Given the description of an element on the screen output the (x, y) to click on. 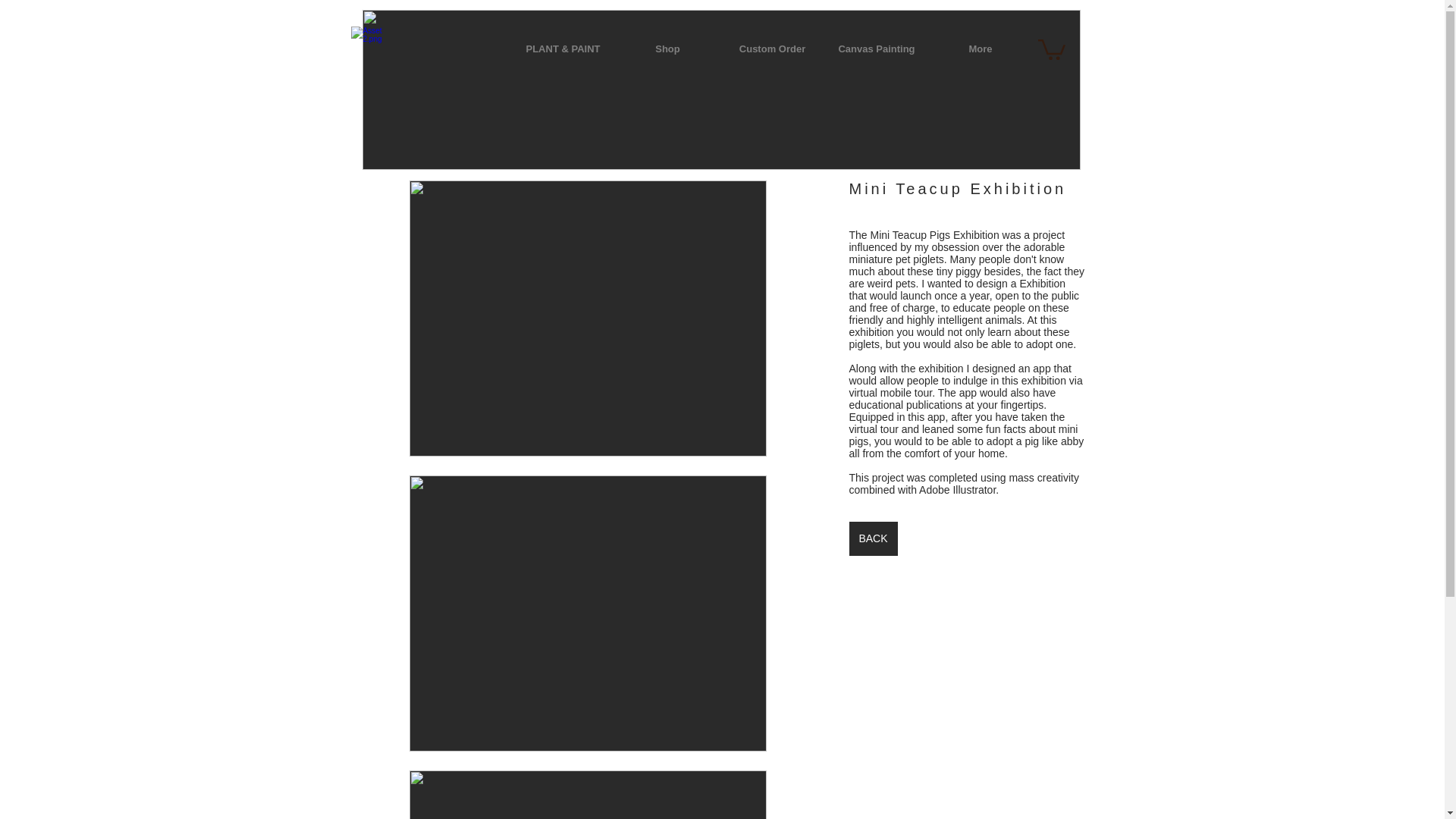
Custom Order (772, 48)
BACK (873, 538)
Canvas Painting (876, 48)
Shop (667, 48)
